Given the description of an element on the screen output the (x, y) to click on. 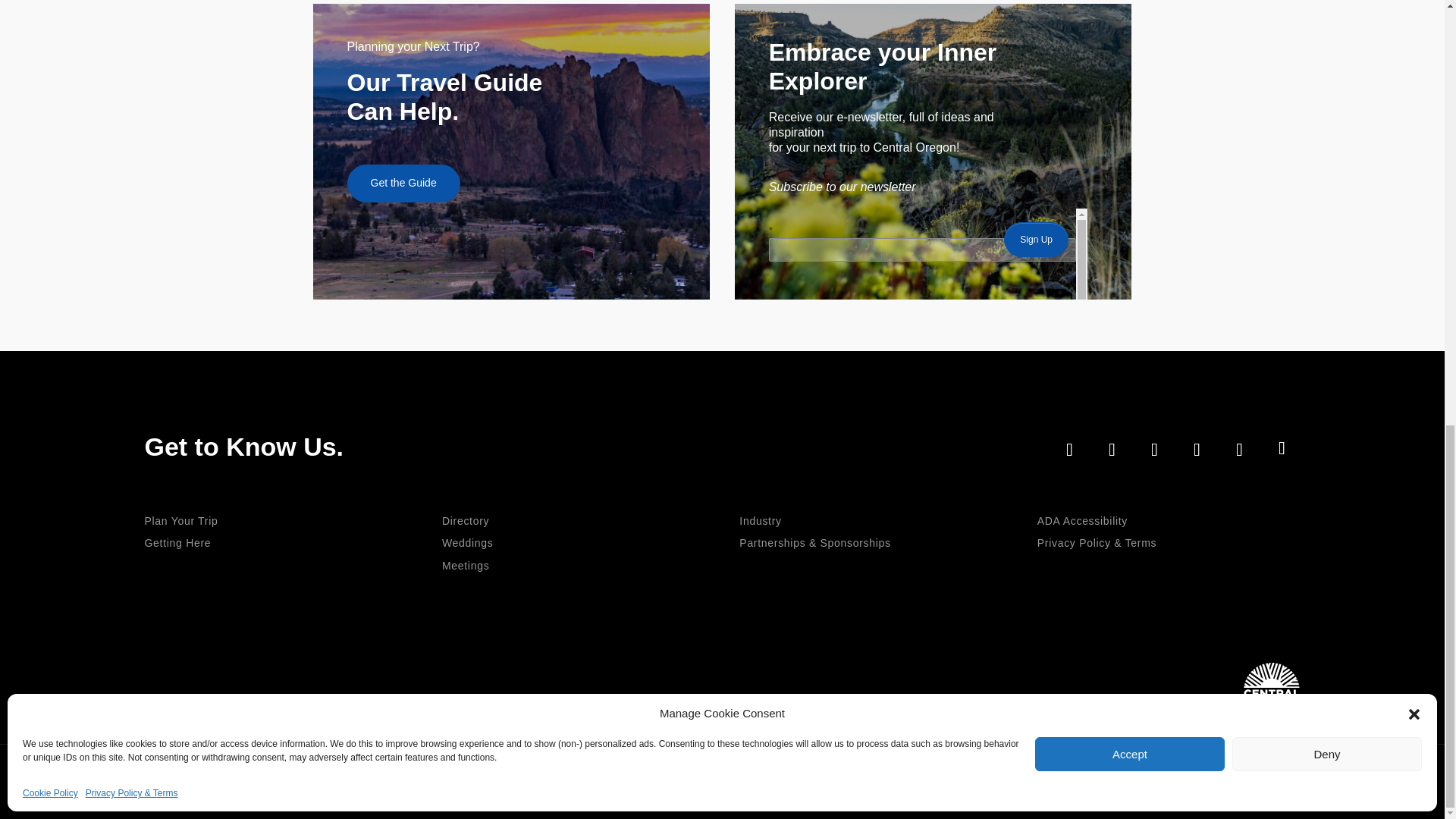
VCO-Logo-white (1271, 684)
Follow on Youtube (1239, 449)
Follow on X (1153, 449)
Follow on LinkedIn (1195, 449)
Follow on Facebook (1069, 449)
Follow on Pinterest (1281, 447)
Follow on Instagram (1111, 449)
